Given the description of an element on the screen output the (x, y) to click on. 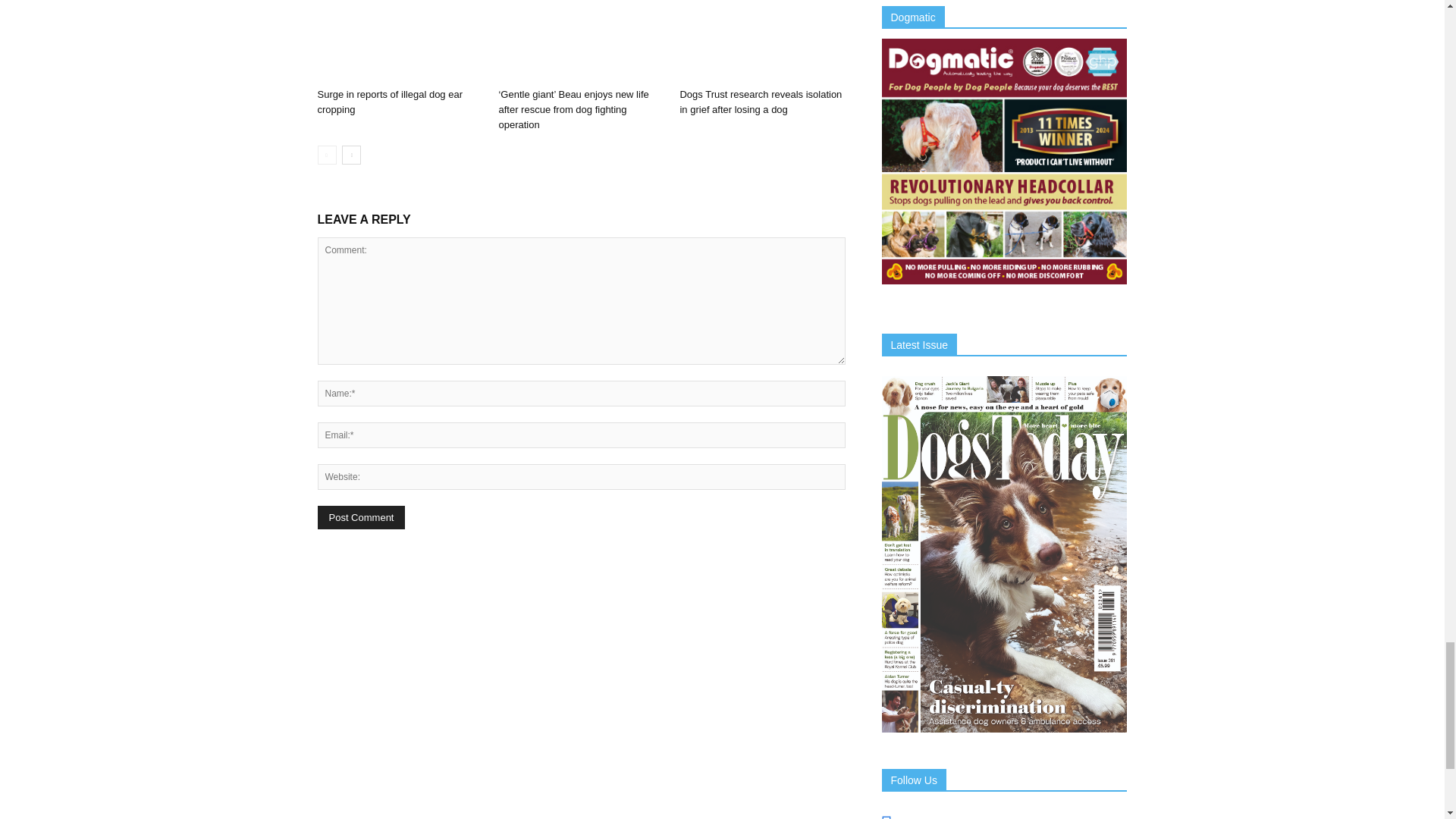
Surge in reports of illegal dog ear cropping (399, 40)
Post Comment (360, 517)
Surge in reports of illegal dog ear cropping (390, 101)
